Given the description of an element on the screen output the (x, y) to click on. 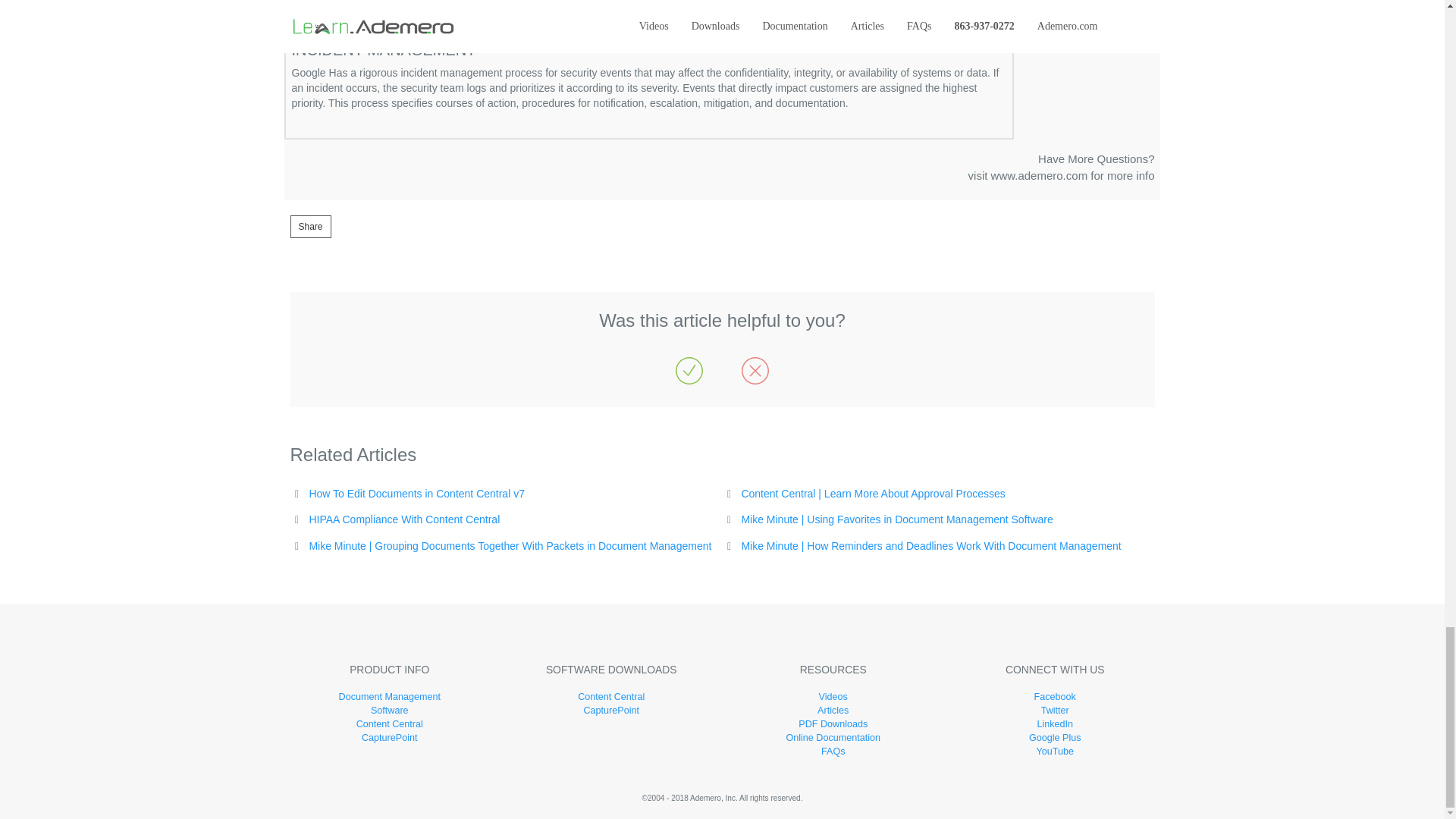
Share (1061, 166)
HIPAA Compliance With Content Central (309, 226)
How To Edit Documents in Content Central v7 (403, 519)
